Given the description of an element on the screen output the (x, y) to click on. 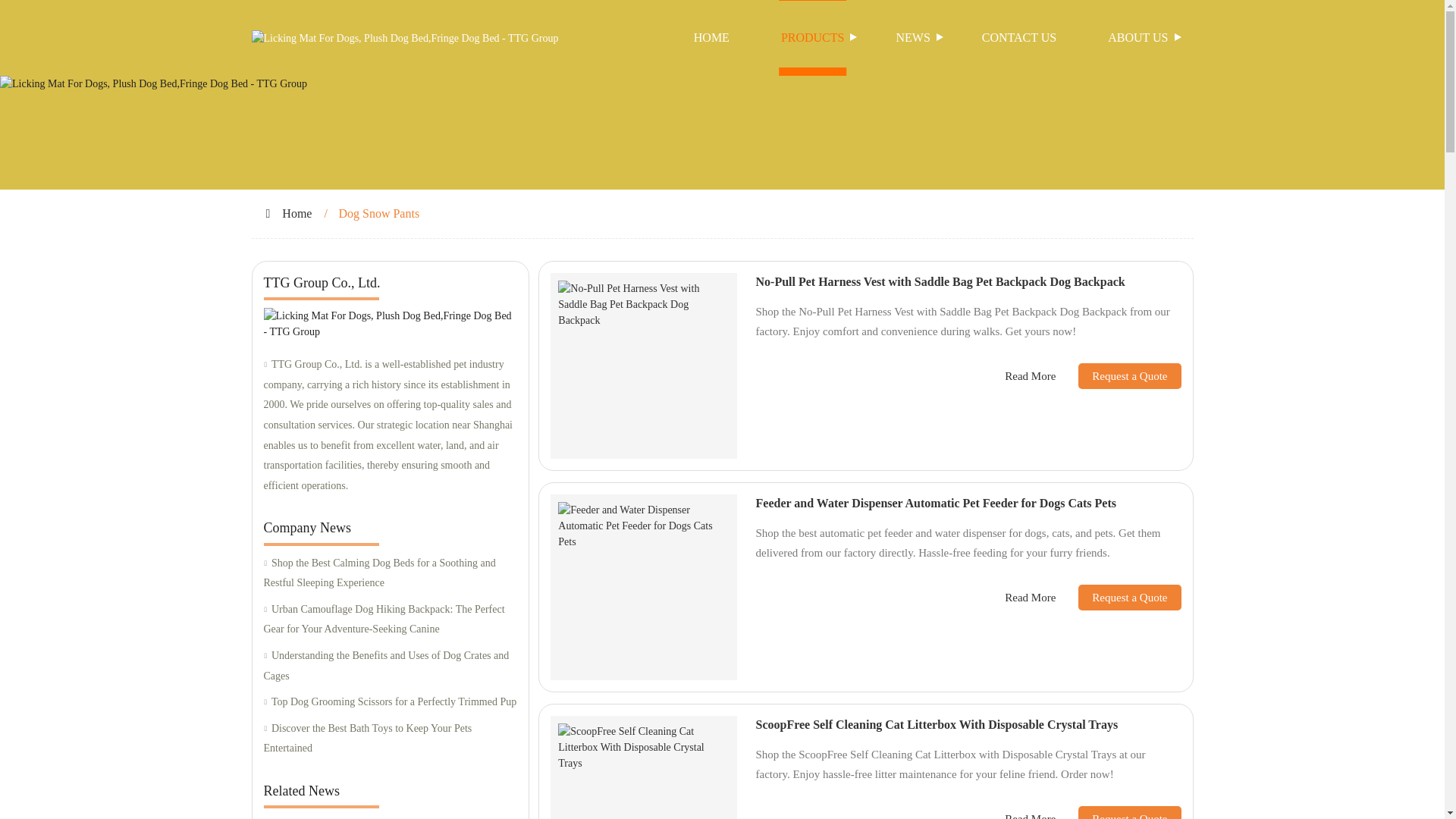
Top Dog Grooming Scissors for a Perfectly Trimmed Pup (389, 702)
Read More (1029, 597)
Read More (1029, 375)
Request a Quote (1117, 376)
Request a Quote (1117, 812)
CONTACT US (1018, 38)
